Given the description of an element on the screen output the (x, y) to click on. 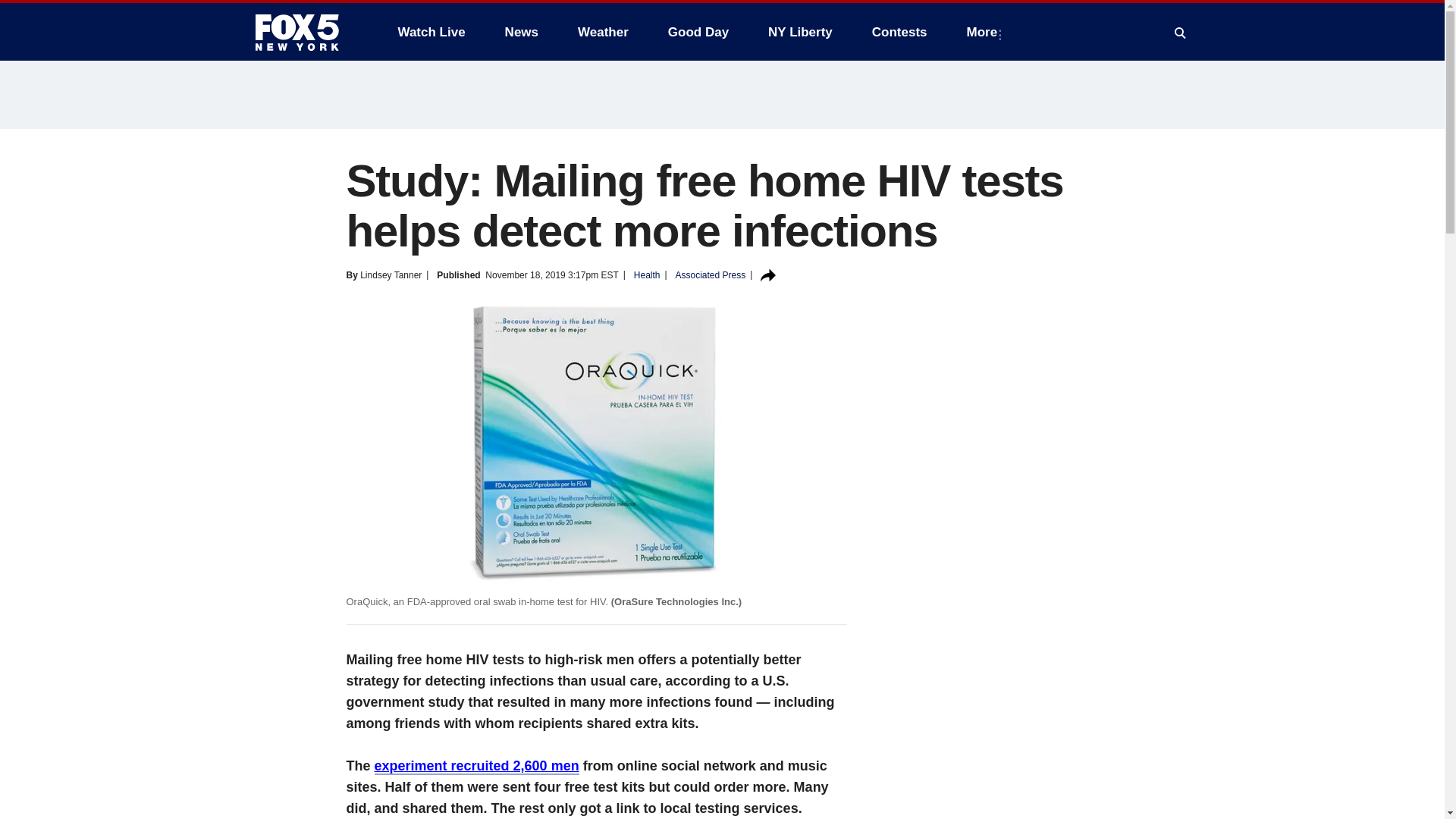
Watch Live (431, 32)
Weather (603, 32)
NY Liberty (799, 32)
Good Day (698, 32)
Contests (899, 32)
More (985, 32)
News (521, 32)
